Given the description of an element on the screen output the (x, y) to click on. 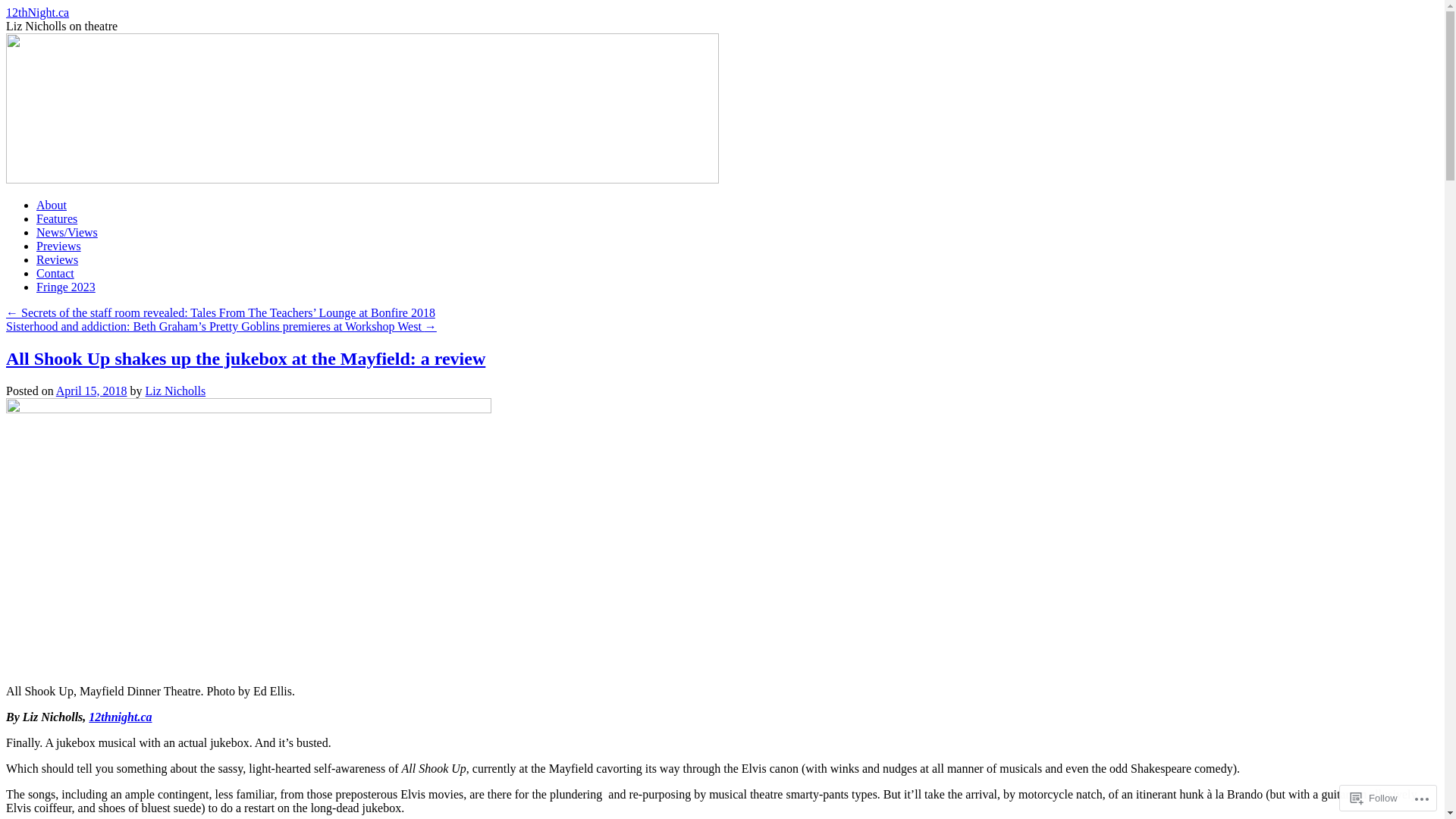
12thNight.ca Element type: text (37, 12)
About Element type: text (51, 204)
Fringe 2023 Element type: text (65, 286)
Contact Element type: text (55, 272)
Features Element type: text (56, 218)
Previews Element type: text (58, 245)
Follow Element type: text (1373, 797)
12thnight.ca Element type: text (119, 716)
All Shook Up shakes up the jukebox at the Mayfield: a review Element type: text (245, 358)
12thNight.ca Element type: hover (362, 178)
Reviews Element type: text (57, 259)
April 15, 2018 Element type: text (91, 390)
News/Views Element type: text (66, 231)
Liz Nicholls Element type: text (175, 390)
